Given the description of an element on the screen output the (x, y) to click on. 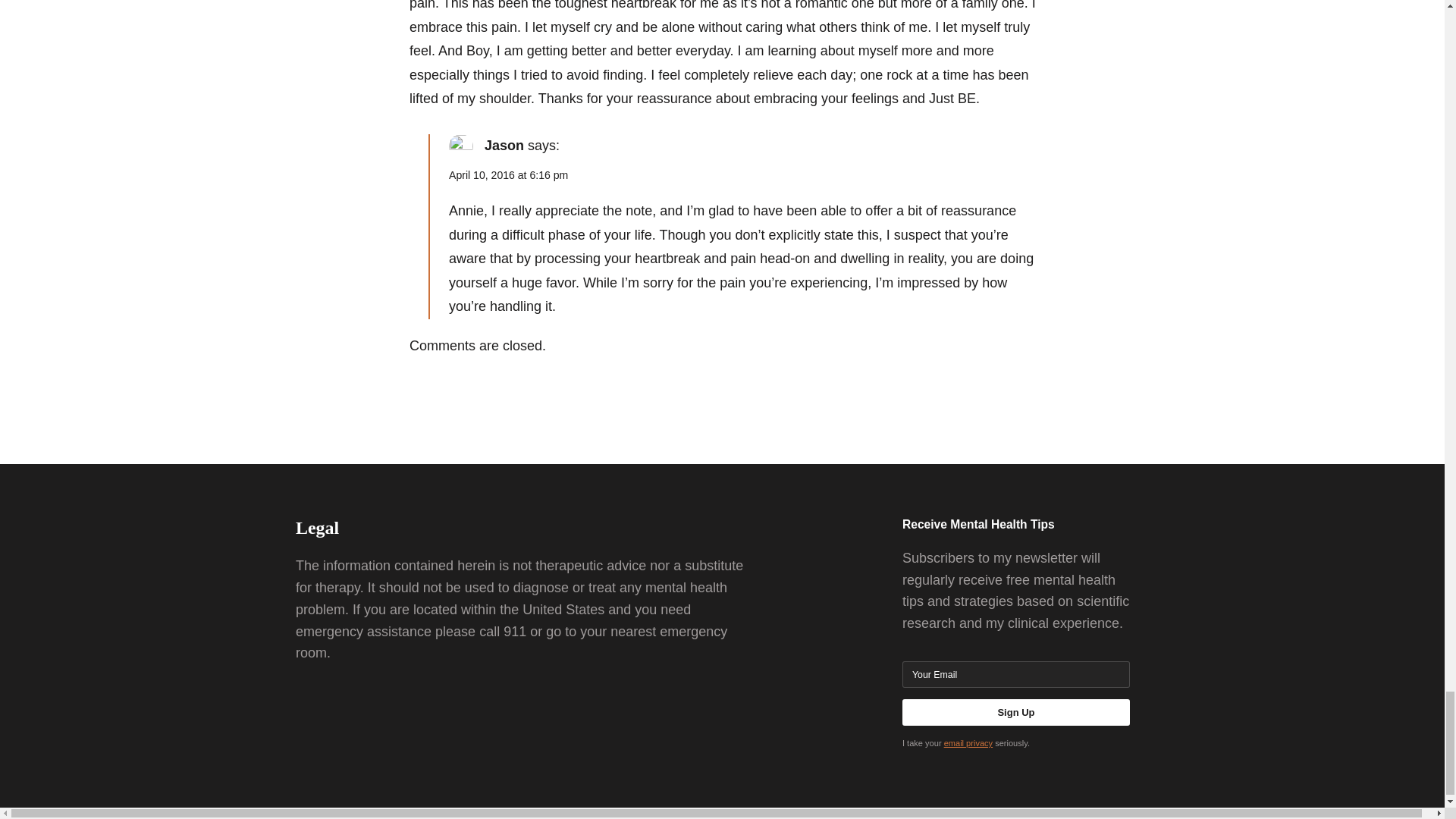
Privacy Policy (967, 742)
April 10, 2016 at 6:16 pm (507, 174)
Sign Up (1015, 712)
Your Email (1015, 673)
email privacy (967, 742)
Sign Up (1015, 712)
